Given the description of an element on the screen output the (x, y) to click on. 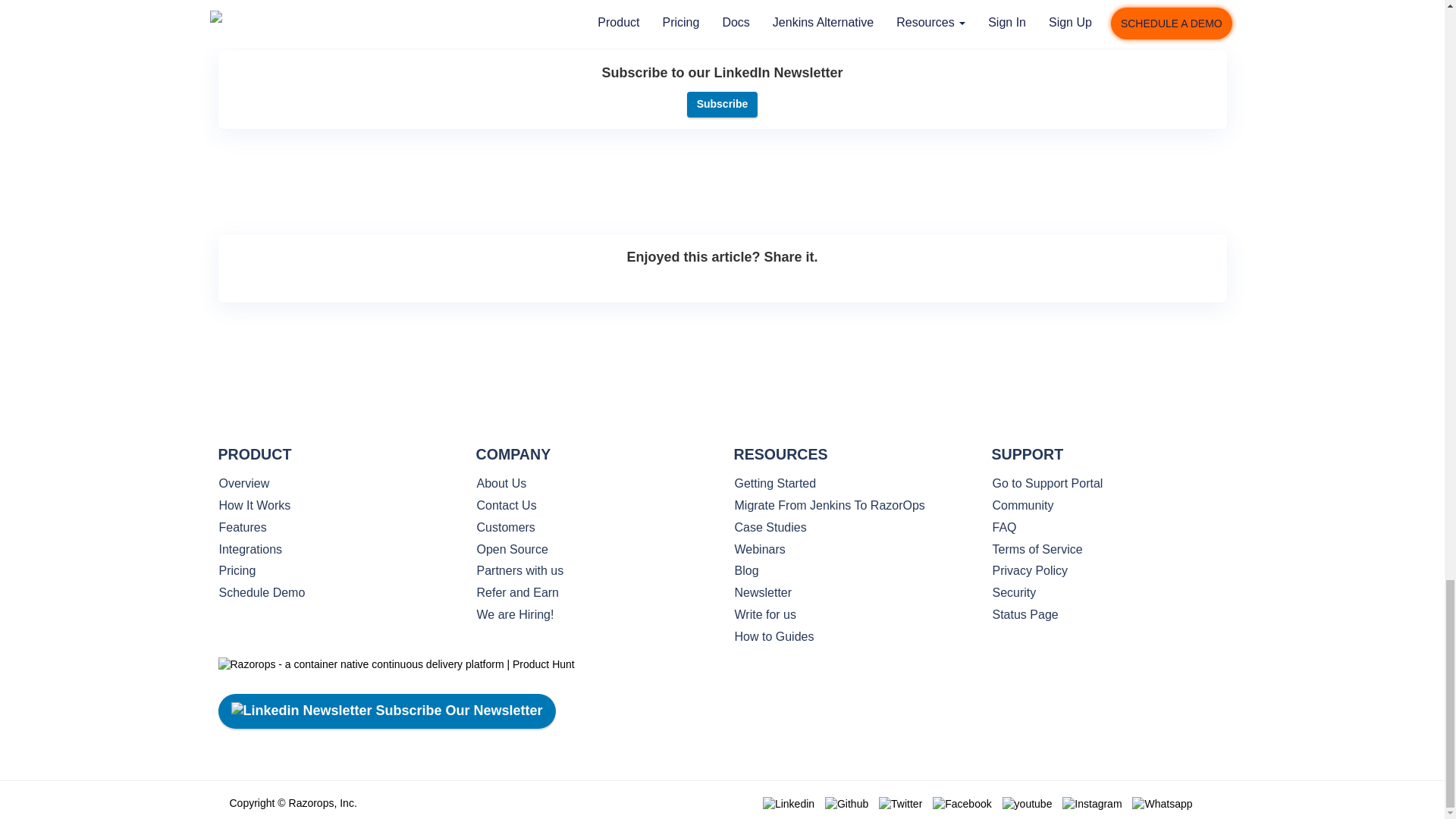
Pricing (335, 570)
Linkedin (787, 804)
Blog (851, 570)
Integrations (335, 548)
Subscribe (722, 104)
instagram (1091, 804)
Features (335, 527)
Youtube (1027, 804)
How It Works (335, 505)
Facebook (962, 804)
Linkedin Newsletter (300, 710)
Twitter (900, 804)
FAQ (1109, 527)
Newsletter (851, 592)
Schedule Demo (335, 592)
